Given the description of an element on the screen output the (x, y) to click on. 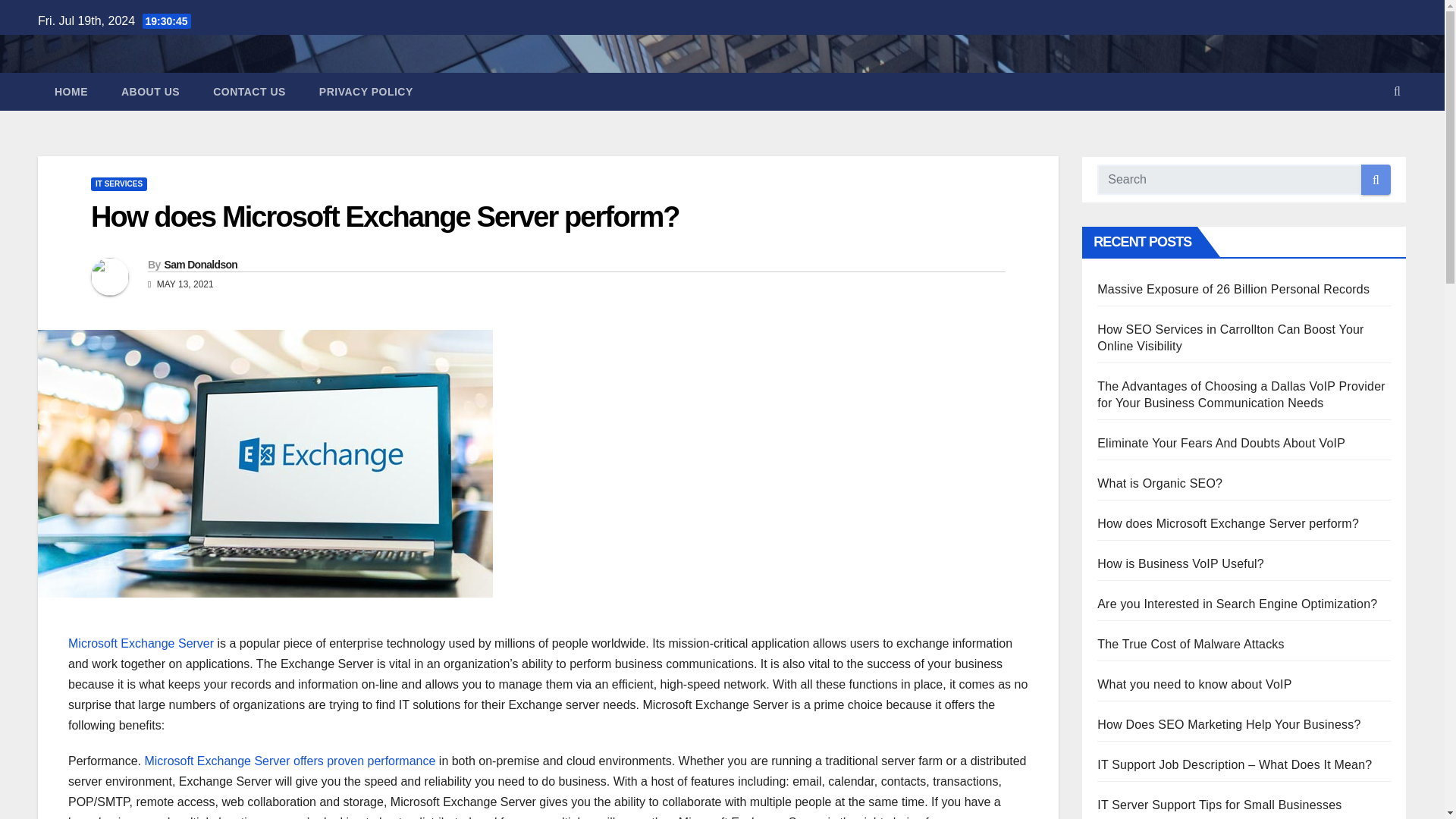
HOME (70, 91)
Permalink to: How does Microsoft Exchange Server perform? (384, 216)
Microsoft Exchange Server (141, 643)
Sam Donaldson (200, 264)
Microsoft Exchange Server offers proven performance (289, 760)
PRIVACY POLICY (365, 91)
How does Microsoft Exchange Server perform? (384, 216)
Eliminate Your Fears And Doubts About VoIP (1221, 442)
Home (70, 91)
ABOUT US (150, 91)
Massive Exposure of 26 Billion Personal Records (1233, 288)
CONTACT US (249, 91)
IT SERVICES (118, 183)
